Given the description of an element on the screen output the (x, y) to click on. 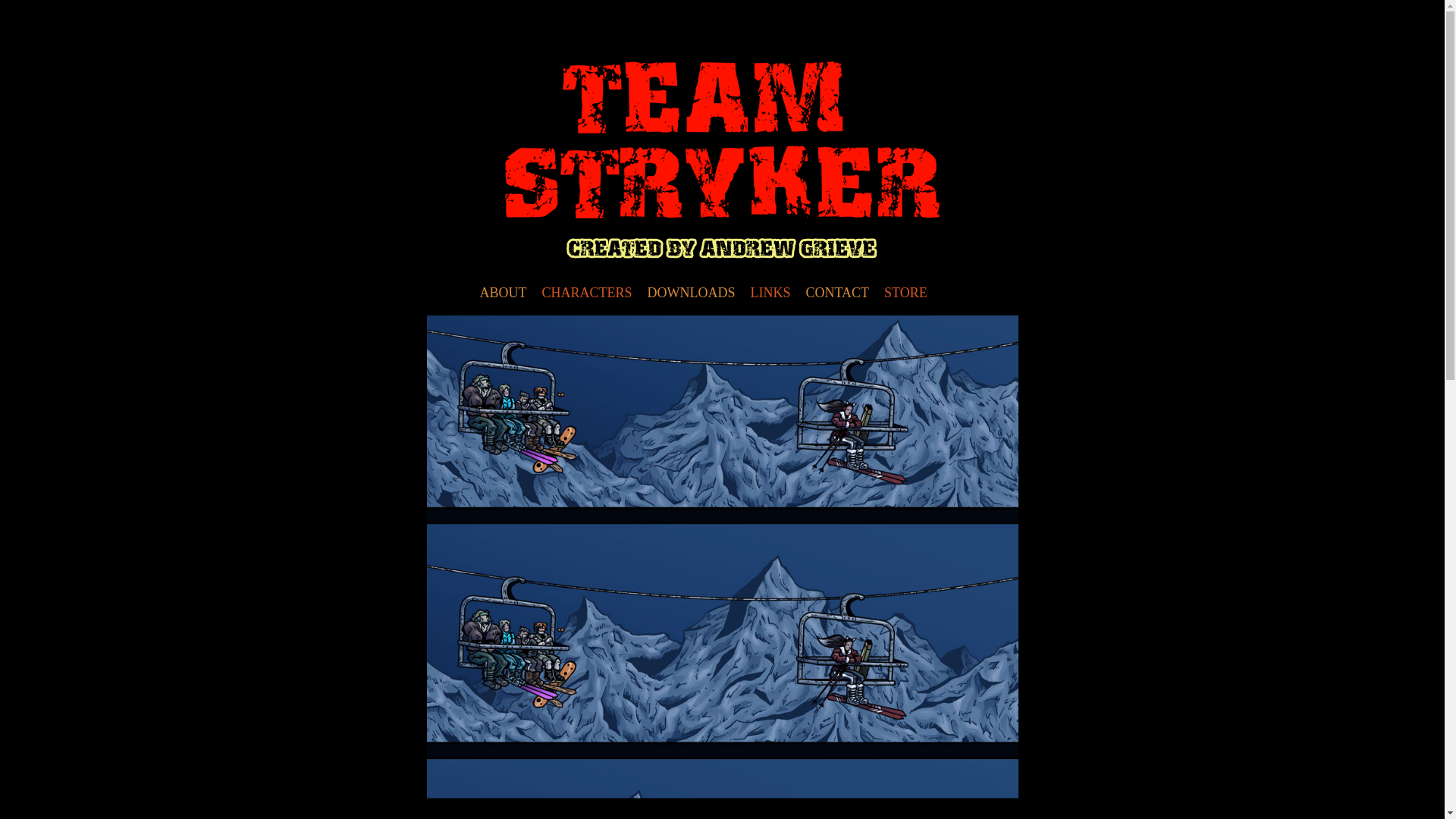
Created-by-Andrew-Grieve (722, 248)
CHARACTERS (586, 292)
LINKS (769, 292)
DOWNLOADS (691, 292)
STORE (905, 292)
TeamStryker-New (722, 139)
CONTACT (837, 292)
ABOUT (502, 292)
